Given the description of an element on the screen output the (x, y) to click on. 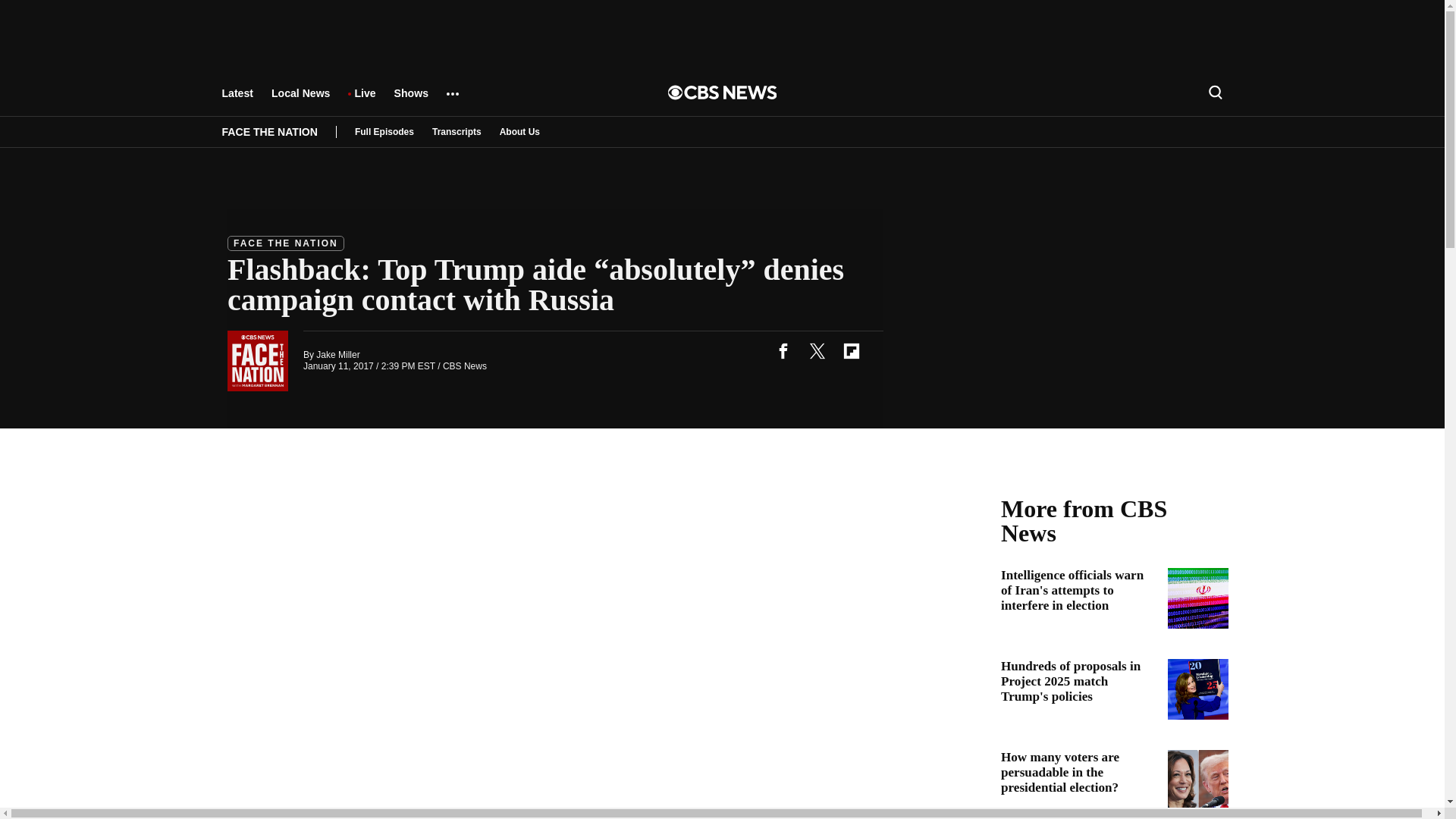
Latest (236, 100)
flipboard (850, 350)
facebook (782, 350)
twitter (816, 350)
Local News (300, 100)
